Given the description of an element on the screen output the (x, y) to click on. 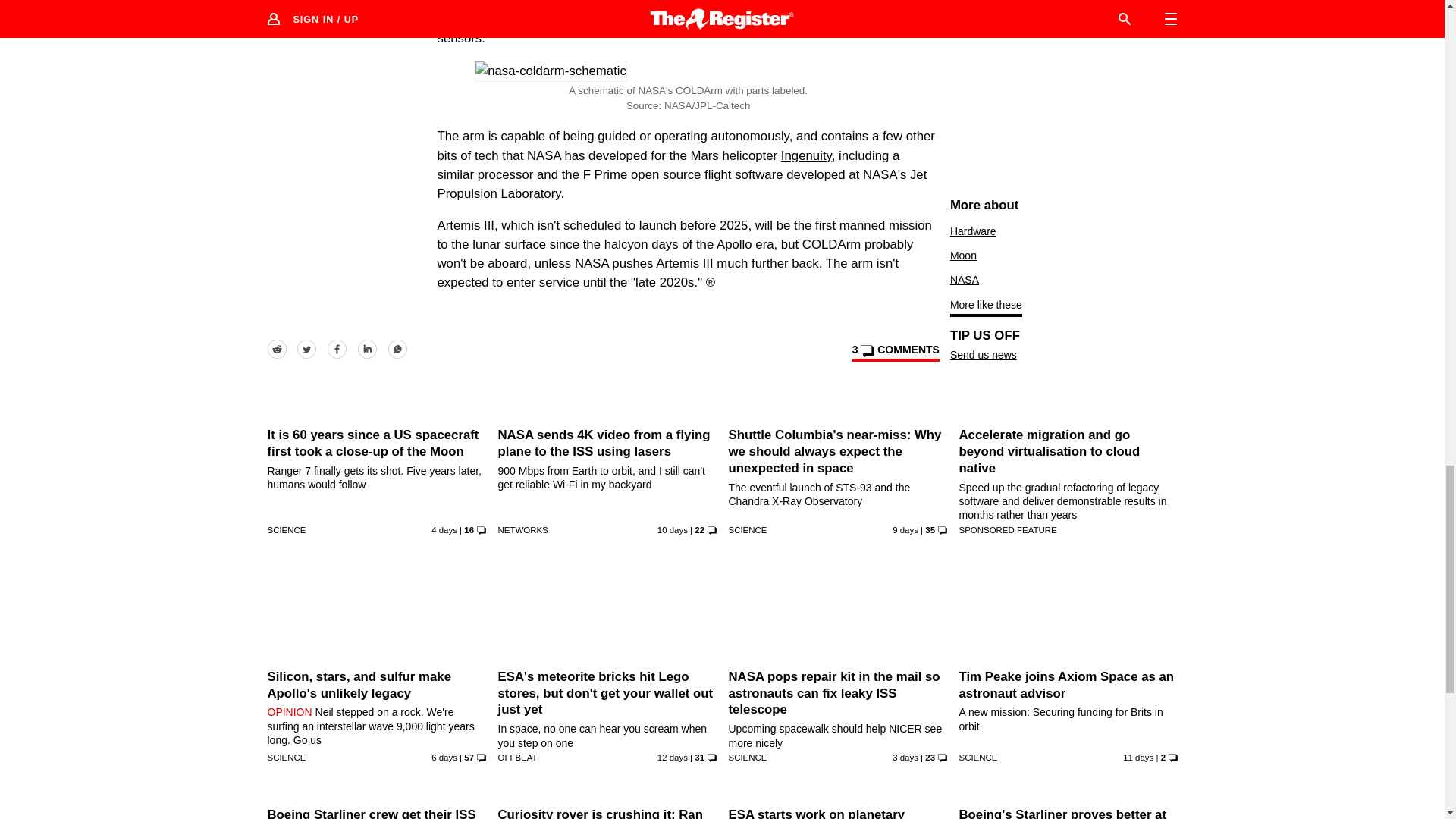
A schematic of NASA's COLDArm with parts labeled (550, 70)
31 Jul 2024 11:30 (443, 529)
View comments on this article (895, 352)
25 Jul 2024 19:2 (672, 529)
